Given the description of an element on the screen output the (x, y) to click on. 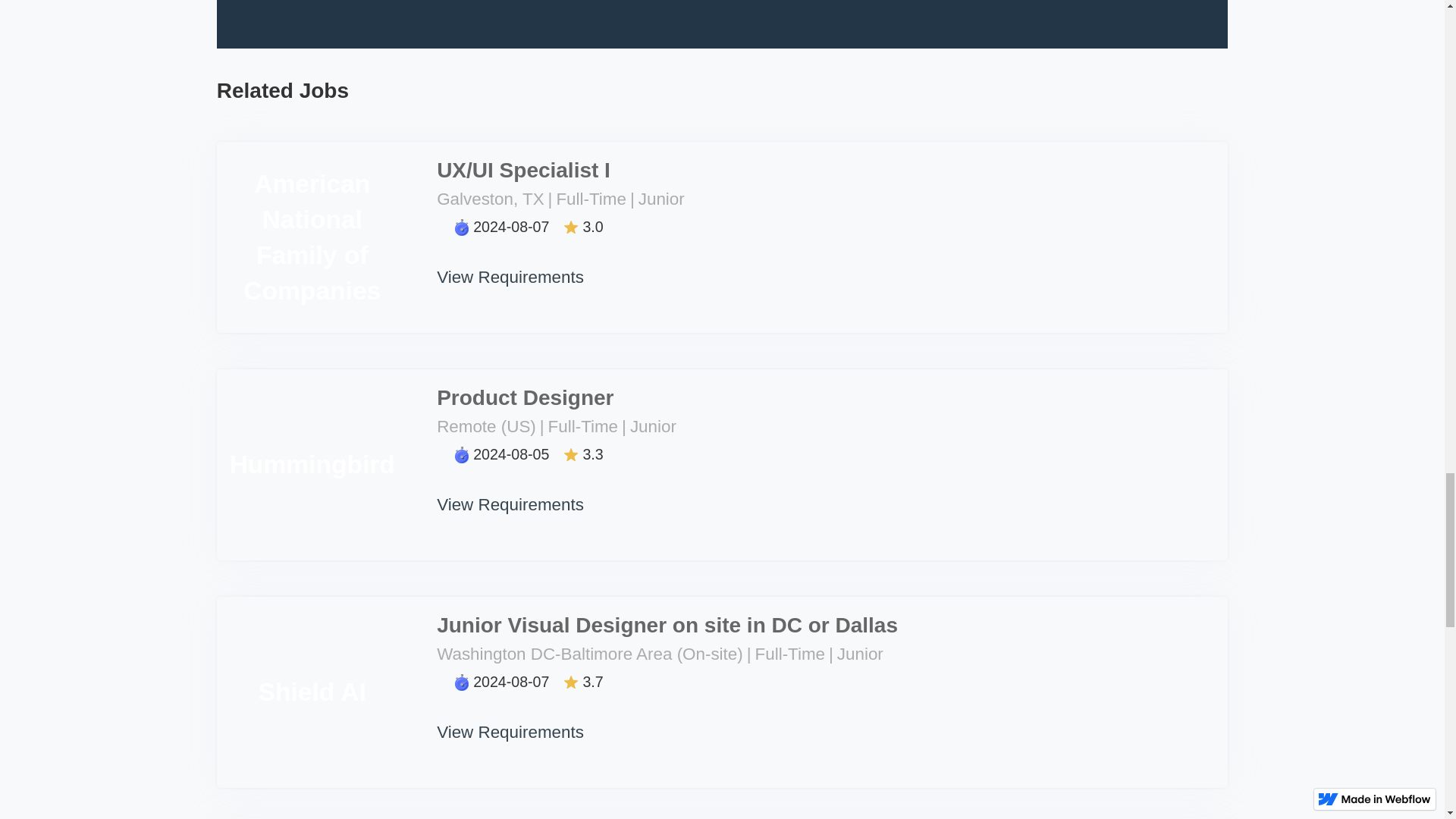
View Requirements (511, 263)
Shield AI (311, 692)
View Requirements (511, 491)
View Requirements (511, 719)
American National Family of Companies (311, 236)
Hummingbird (311, 464)
